Given the description of an element on the screen output the (x, y) to click on. 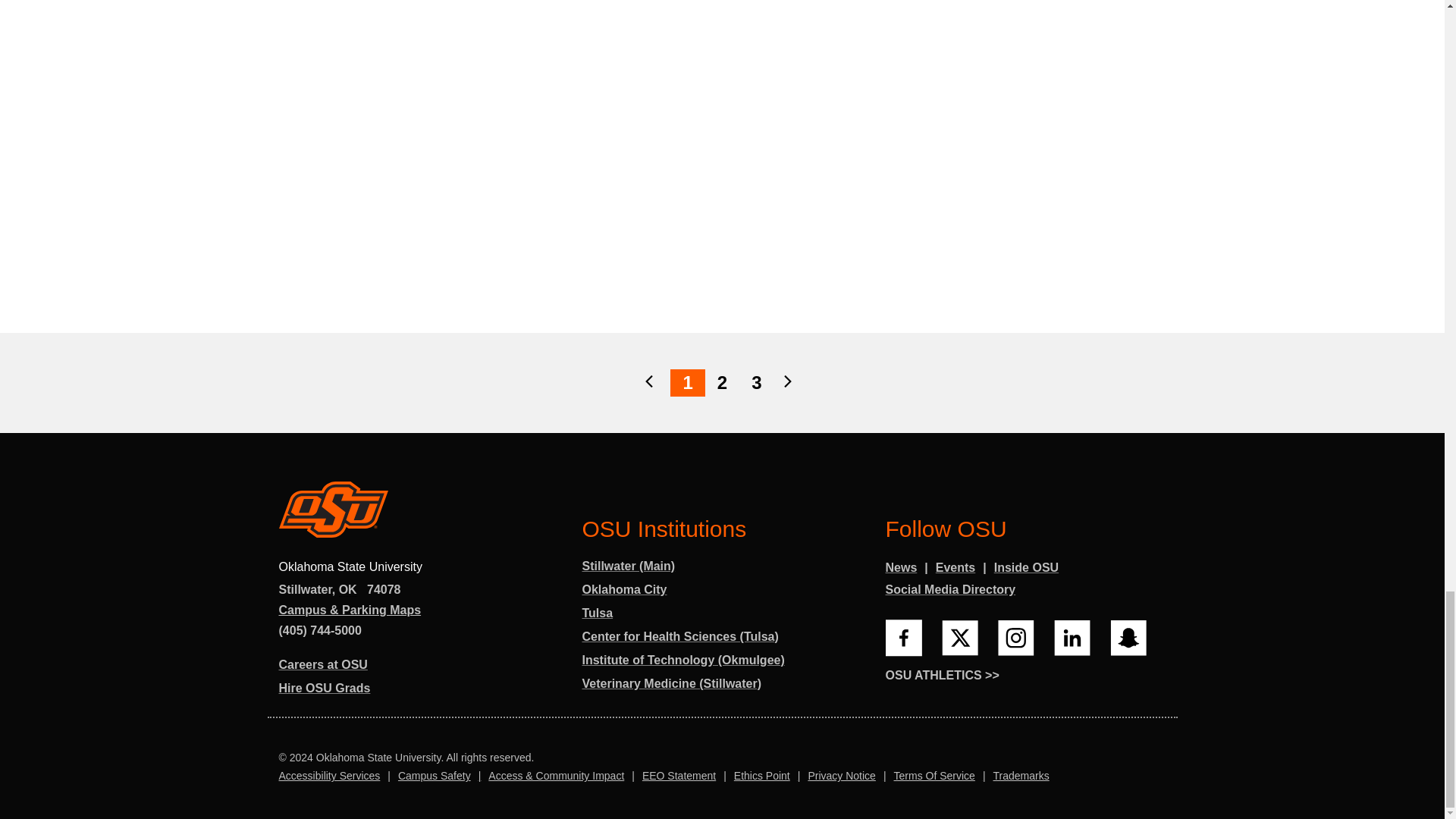
Stillwater, OK 74078 (340, 590)
Oklahoma (347, 590)
